Given the description of an element on the screen output the (x, y) to click on. 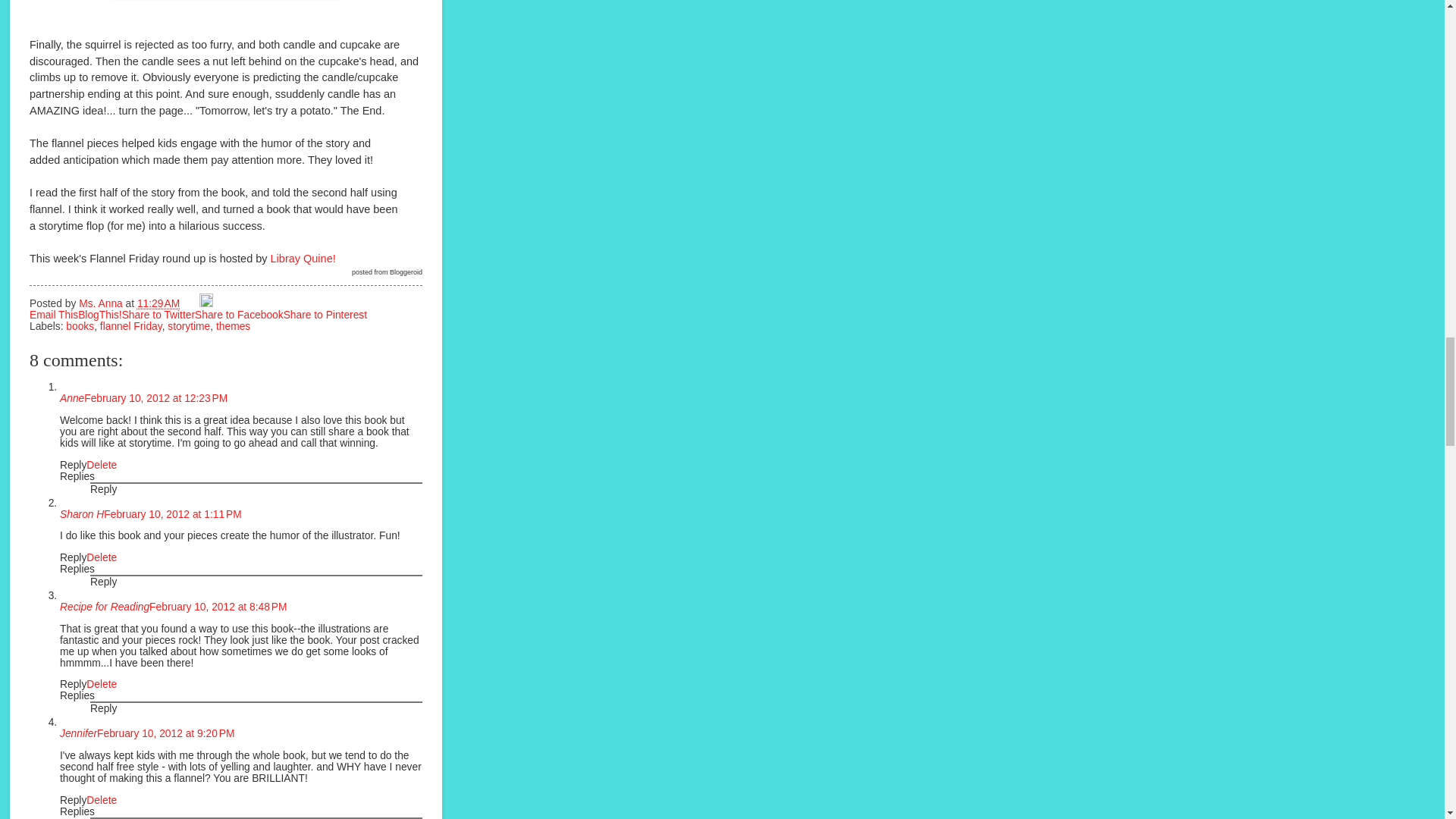
Share to Pinterest (324, 315)
Reply (72, 464)
BlogThis! (100, 315)
Delete (100, 464)
storytime (188, 326)
Share to Pinterest (324, 315)
themes (232, 326)
Sharon H (81, 514)
Email This (53, 315)
Email This (53, 315)
Reply (103, 489)
flannel Friday (130, 326)
Email Post (191, 303)
permanent link (157, 303)
Delete (100, 557)
